Given the description of an element on the screen output the (x, y) to click on. 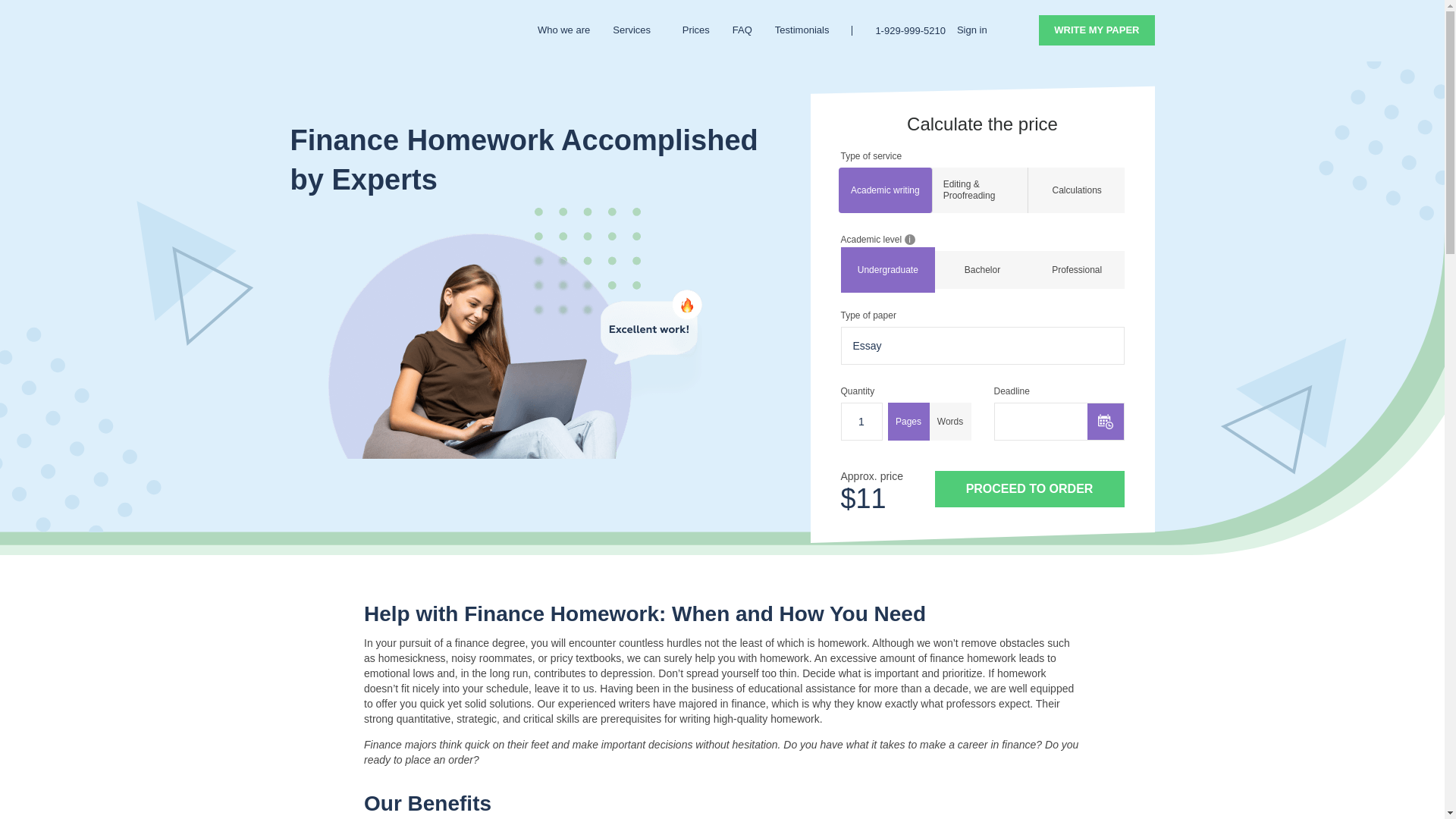
Who we are (563, 30)
Essay (982, 345)
Services (635, 30)
on (907, 421)
on (950, 421)
1 (861, 421)
